Given the description of an element on the screen output the (x, y) to click on. 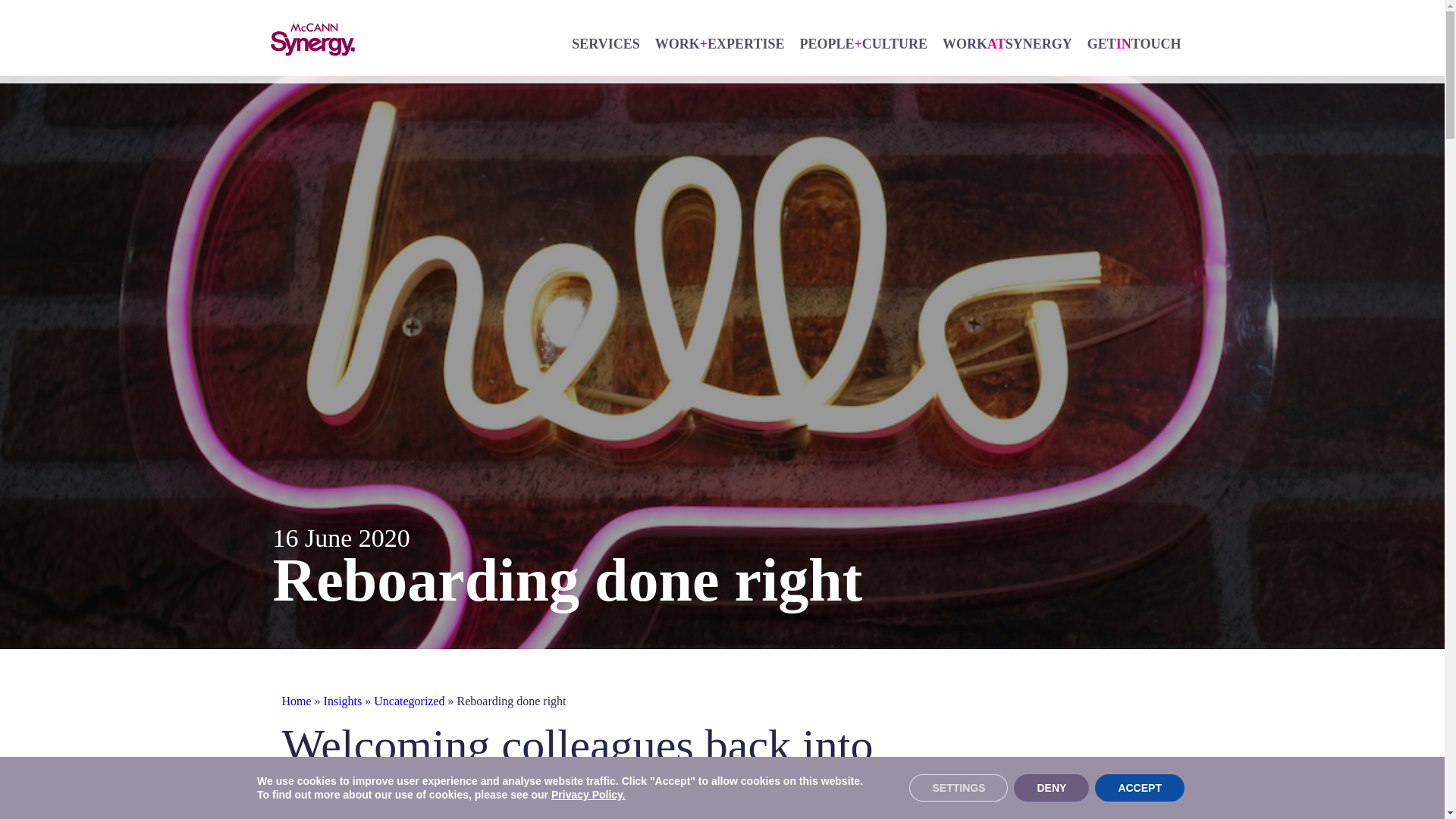
Insights (342, 700)
GETINTOUCH (1134, 41)
Home (296, 700)
Privacy Policy. (588, 794)
WORKATSYNERGY (1007, 41)
ACCEPT (1139, 787)
Uncategorized (409, 700)
SERVICES (605, 41)
